Given the description of an element on the screen output the (x, y) to click on. 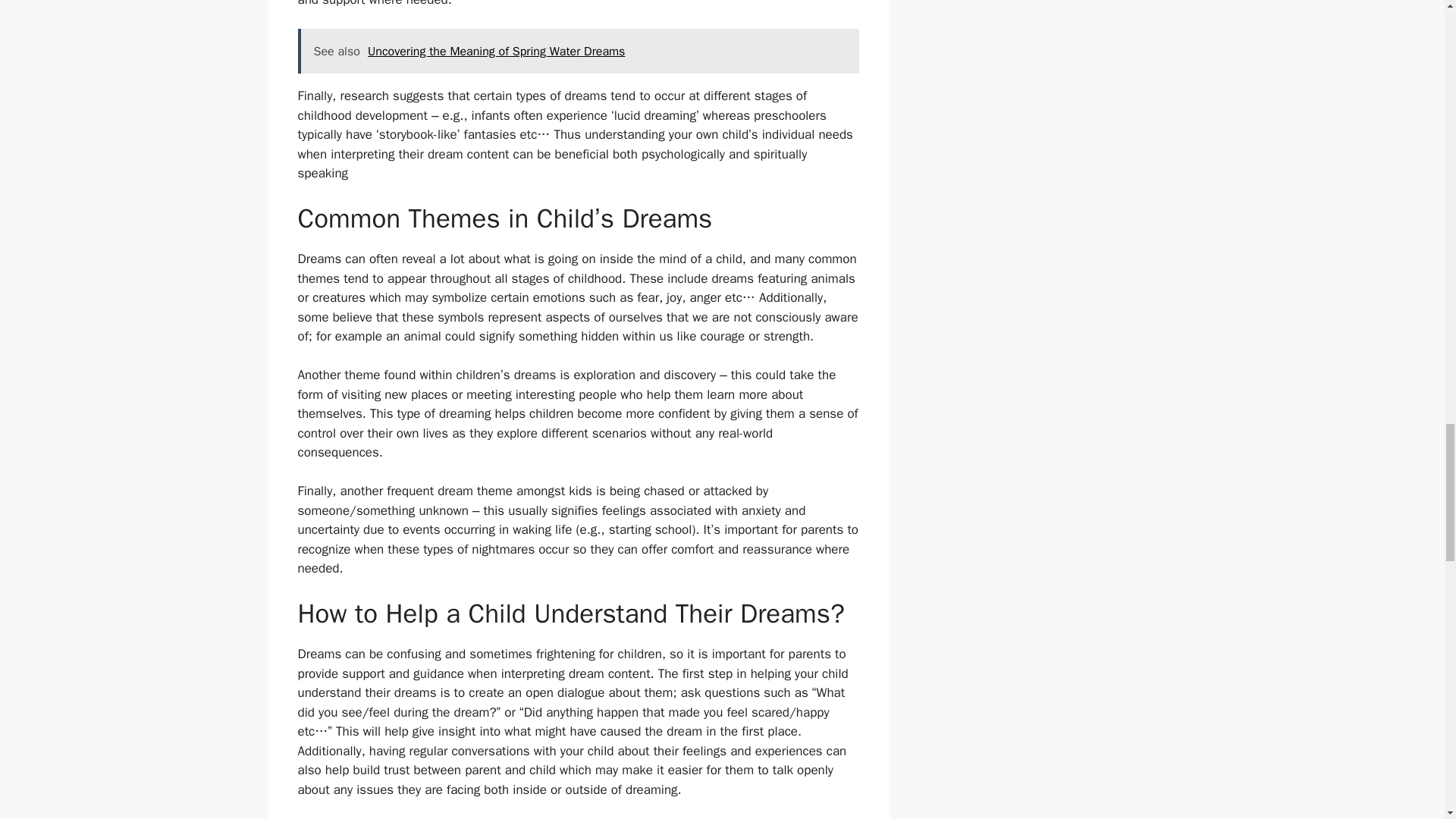
See also  Uncovering the Meaning of Spring Water Dreams (578, 51)
